Given the description of an element on the screen output the (x, y) to click on. 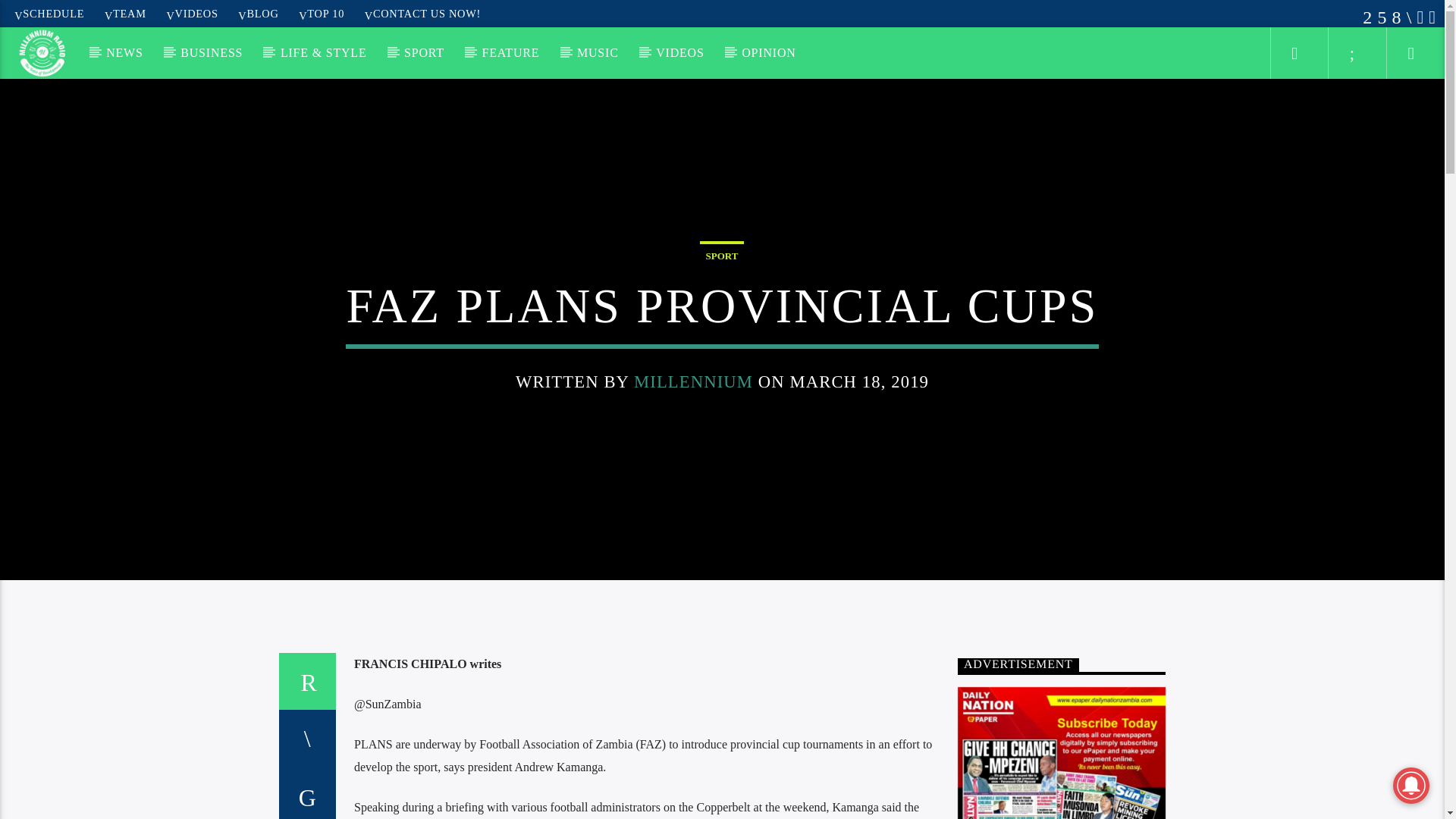
TOP 10 (321, 13)
BLOG (257, 13)
CONTACT US NOW! (422, 13)
MUSIC (597, 52)
FEATURE (510, 52)
TEAM (125, 13)
NEWS (124, 52)
VIDEOS (192, 13)
SPORT (424, 52)
SCHEDULE (49, 13)
Posts by Millennium (692, 381)
BUSINESS (211, 52)
